Given the description of an element on the screen output the (x, y) to click on. 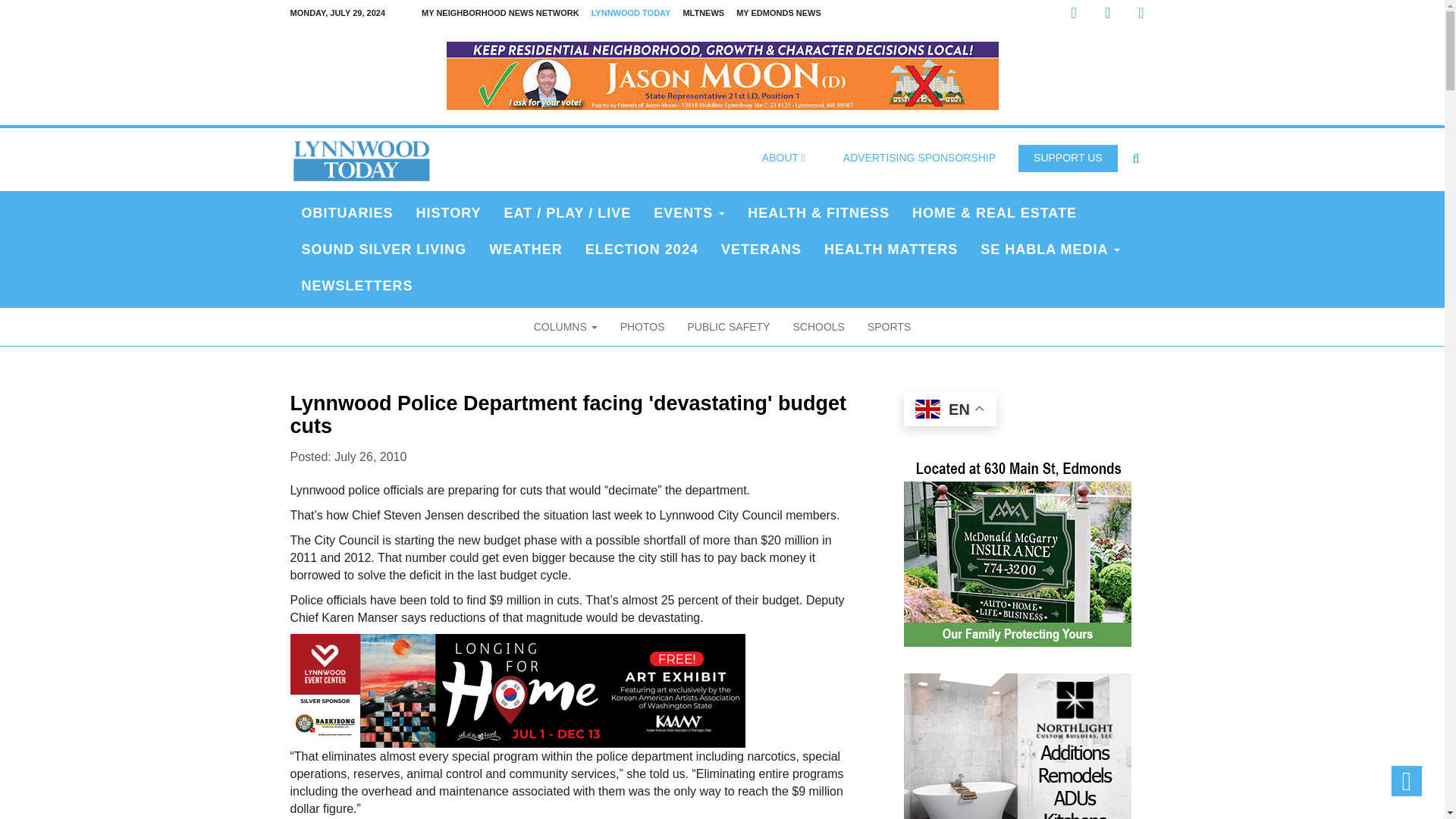
ABOUT (783, 157)
MLTNEWS (703, 13)
Election 2024 (641, 248)
MY EDMONDS NEWS (778, 13)
HISTORY (448, 212)
Veterans (761, 248)
EVENTS (689, 212)
History (448, 212)
ADVERTISING SPONSORSHIP (919, 157)
Events (689, 212)
SUPPORT US (1067, 157)
MY NEIGHBORHOOD NEWS NETWORK (499, 13)
Weather (525, 248)
HEALTH MATTERS (890, 248)
Health Matters (890, 248)
